Given the description of an element on the screen output the (x, y) to click on. 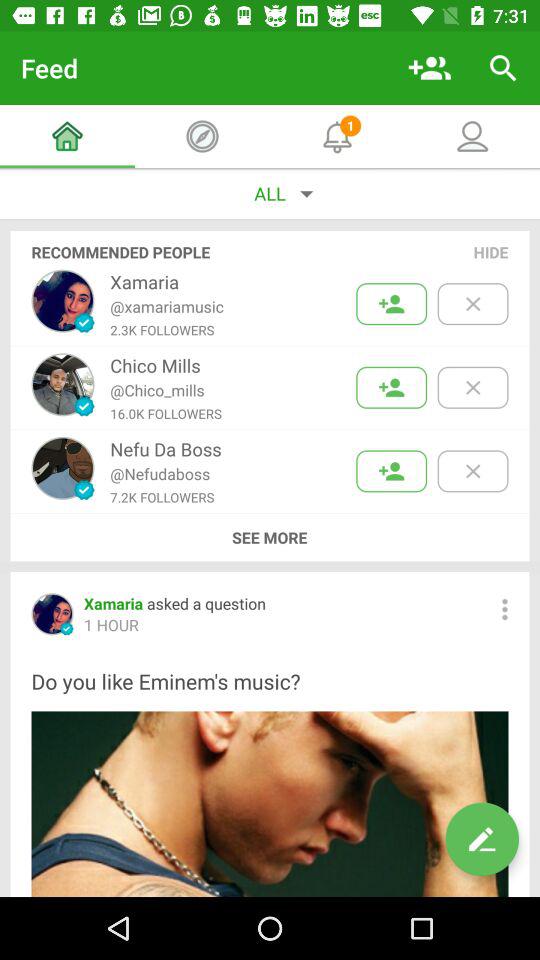
select to hide follower (472, 471)
